Given the description of an element on the screen output the (x, y) to click on. 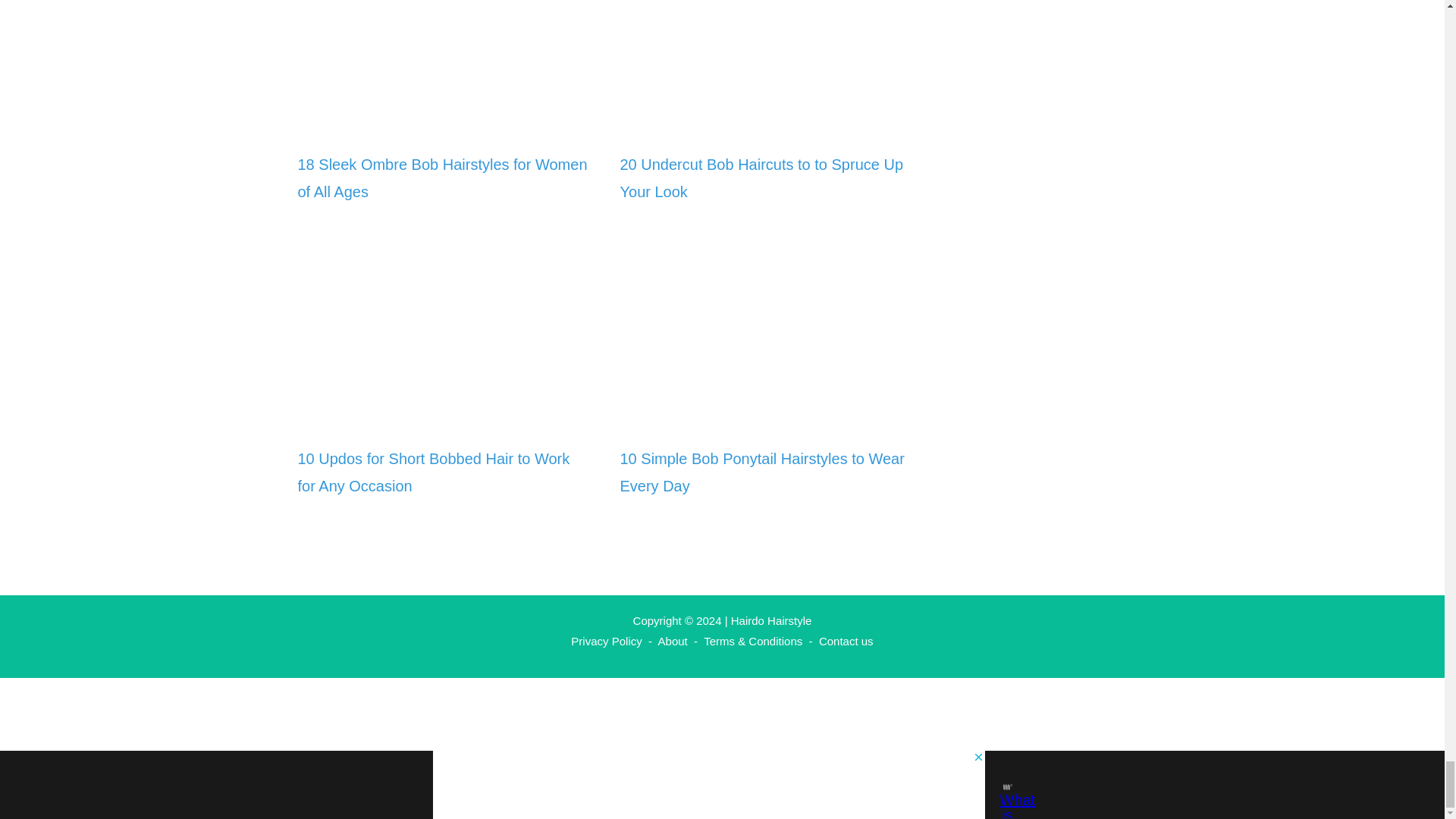
10 Updos for Short Bobbed Hair to Work for Any Occasion (443, 416)
20 Undercut Bob Haircuts to to Spruce Up Your Look (766, 121)
10 Updos for Short Bobbed Hair to Work for Any Occasion (433, 472)
18 Sleek Ombre Bob Hairstyles for Women of All Ages (443, 121)
Privacy Policy (606, 640)
18 Sleek Ombre Bob Hairstyles for Women of All Ages (441, 177)
10 Simple Bob Ponytail Hairstyles to Wear Every Day (766, 416)
10 Simple Bob Ponytail Hairstyles to Wear Every Day (762, 472)
20 Undercut Bob Haircuts to to Spruce Up Your Look (762, 177)
